Given the description of an element on the screen output the (x, y) to click on. 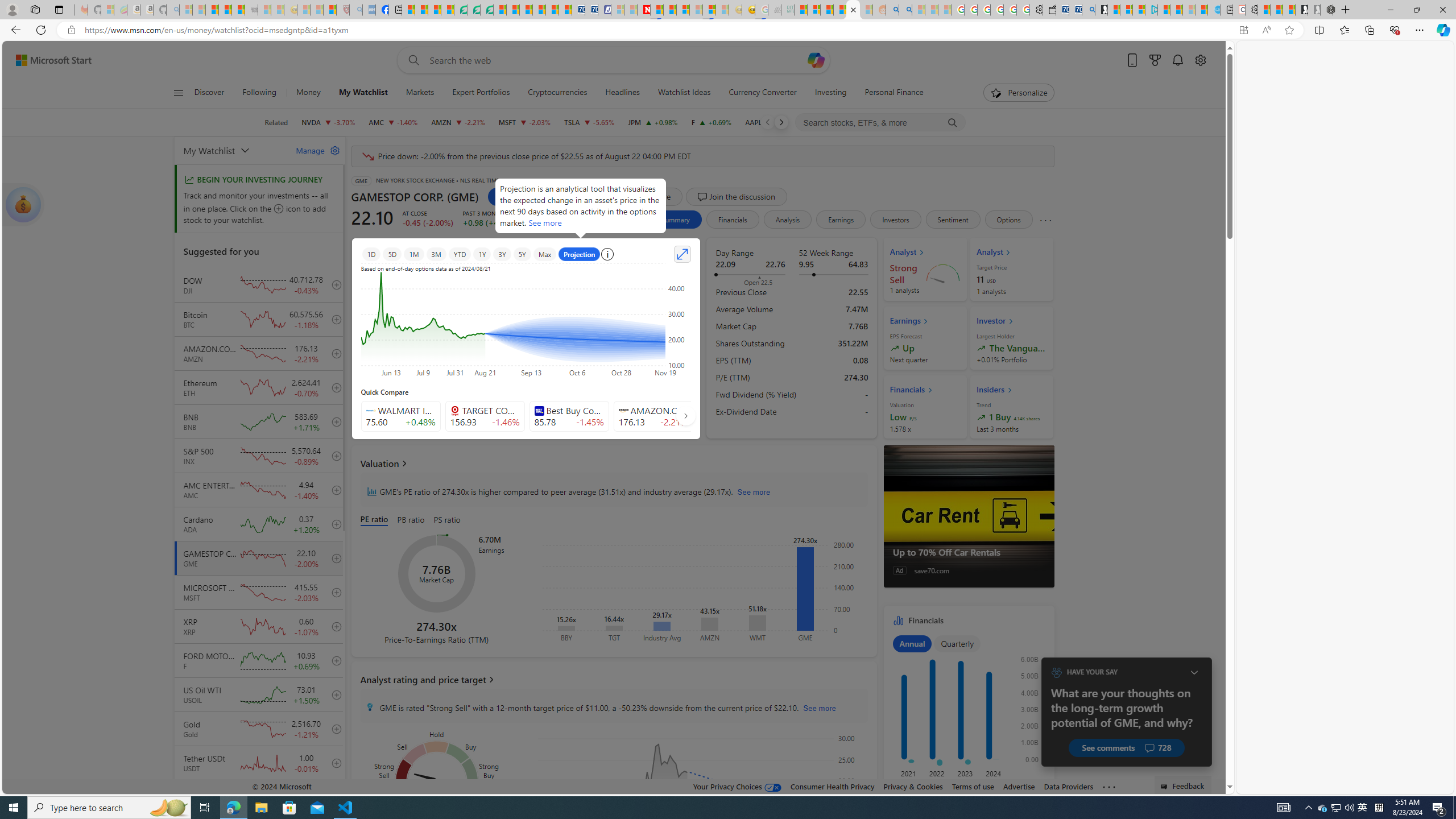
Valuation (613, 463)
See more (1108, 787)
YTD (459, 254)
Terms of use (973, 786)
Notifications (1177, 60)
Personalize (1019, 92)
Up to 70% Off Car Rentals (968, 516)
Options (1008, 219)
Microsoft rewards (1154, 60)
